Given the description of an element on the screen output the (x, y) to click on. 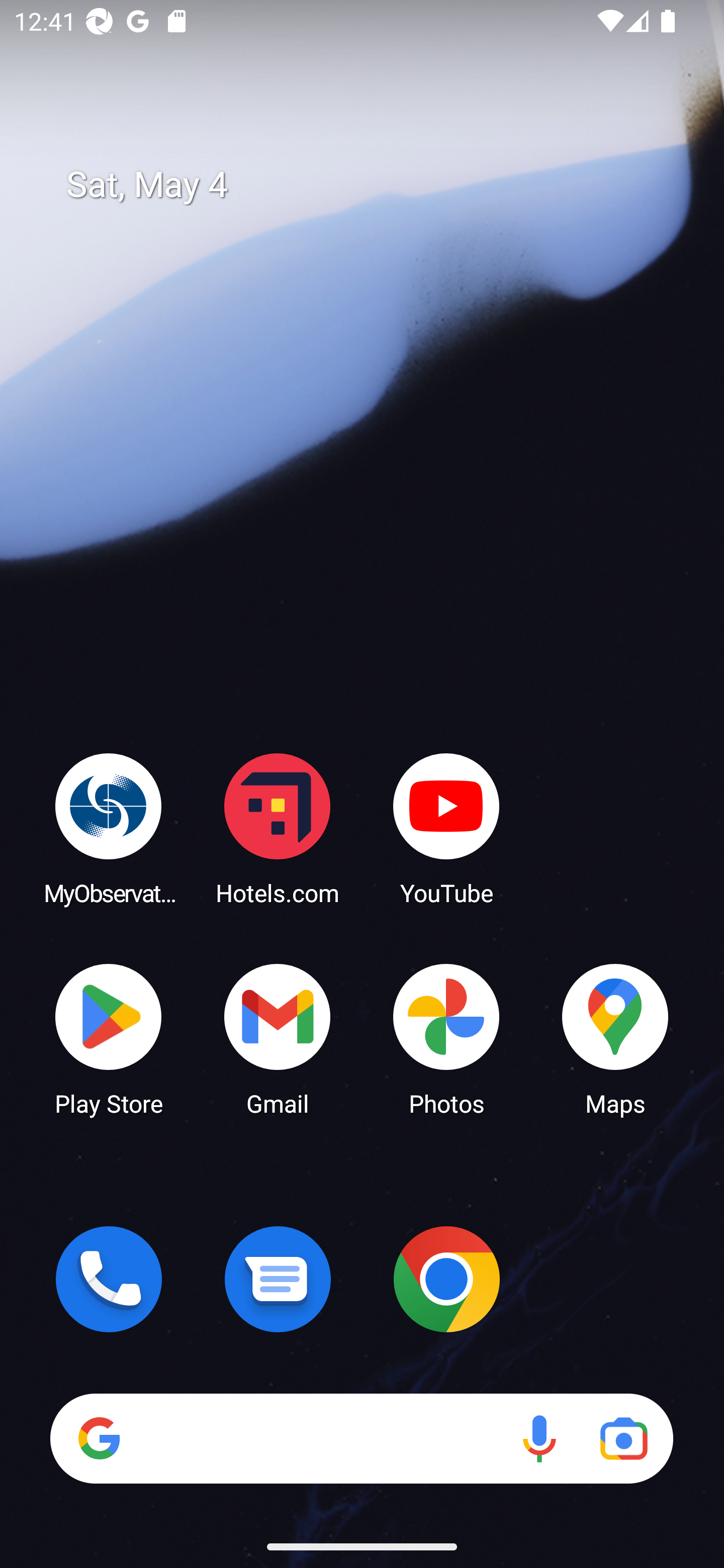
Sat, May 4 (375, 184)
MyObservatory (108, 828)
Hotels.com (277, 828)
YouTube (445, 828)
Play Store (108, 1038)
Gmail (277, 1038)
Photos (445, 1038)
Maps (615, 1038)
Phone (108, 1279)
Messages (277, 1279)
Chrome (446, 1279)
Search Voice search Google Lens (361, 1438)
Voice search (539, 1438)
Google Lens (623, 1438)
